Given the description of an element on the screen output the (x, y) to click on. 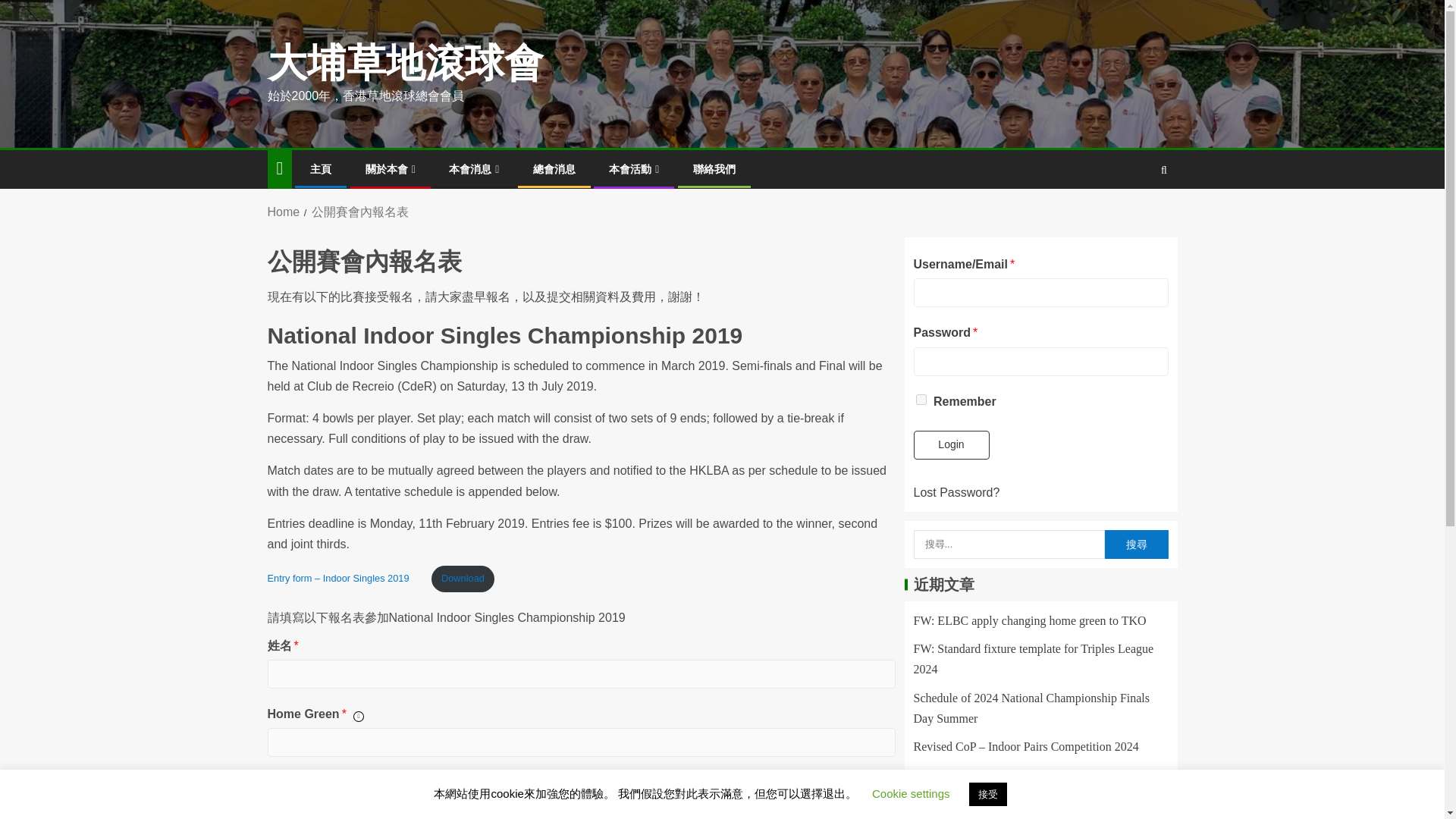
Download (462, 578)
forever (920, 398)
Home (282, 211)
